Given the description of an element on the screen output the (x, y) to click on. 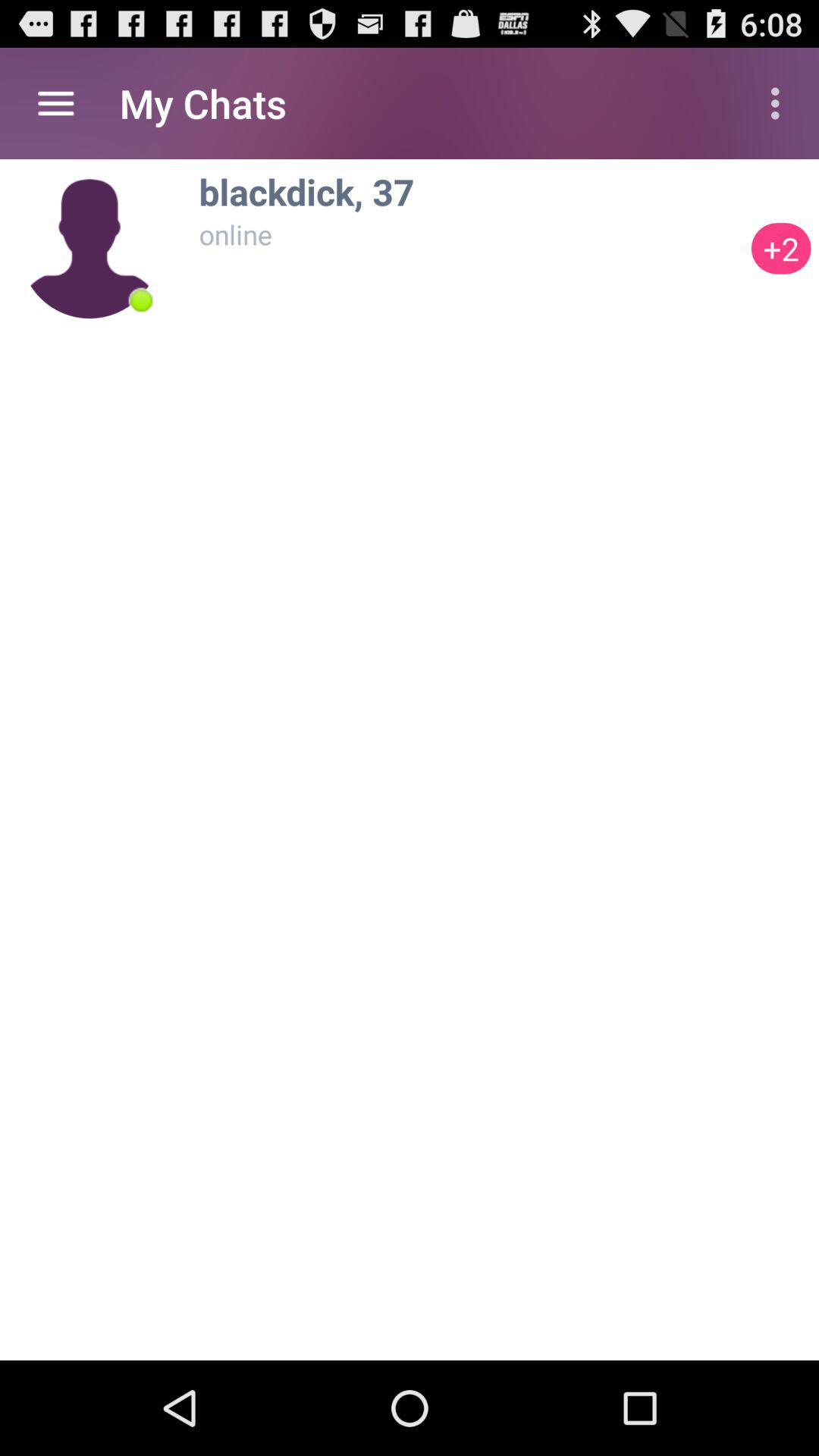
turn on the app next to my chats (779, 103)
